Given the description of an element on the screen output the (x, y) to click on. 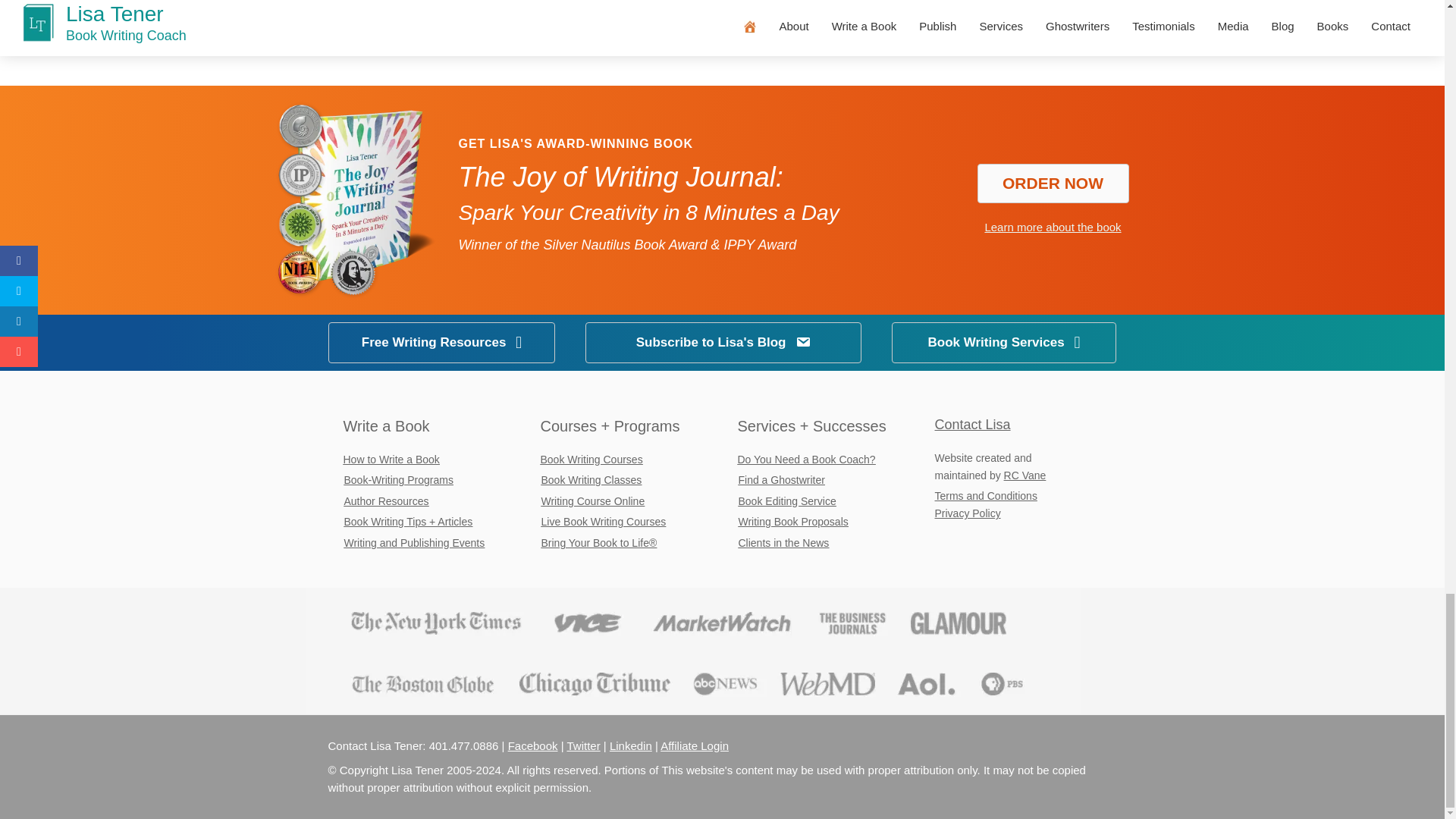
Terms (985, 495)
Lisa Tener on Linkedin (631, 745)
Lisa Tener on Twitter (582, 745)
Affiliate Login (695, 745)
Contact Lisa (972, 424)
Privacy Policy (967, 512)
Lisa Tener on Facebook (532, 745)
Screen Shot 2020-09-07 at 10.05.50 PM (692, 651)
